Given the description of an element on the screen output the (x, y) to click on. 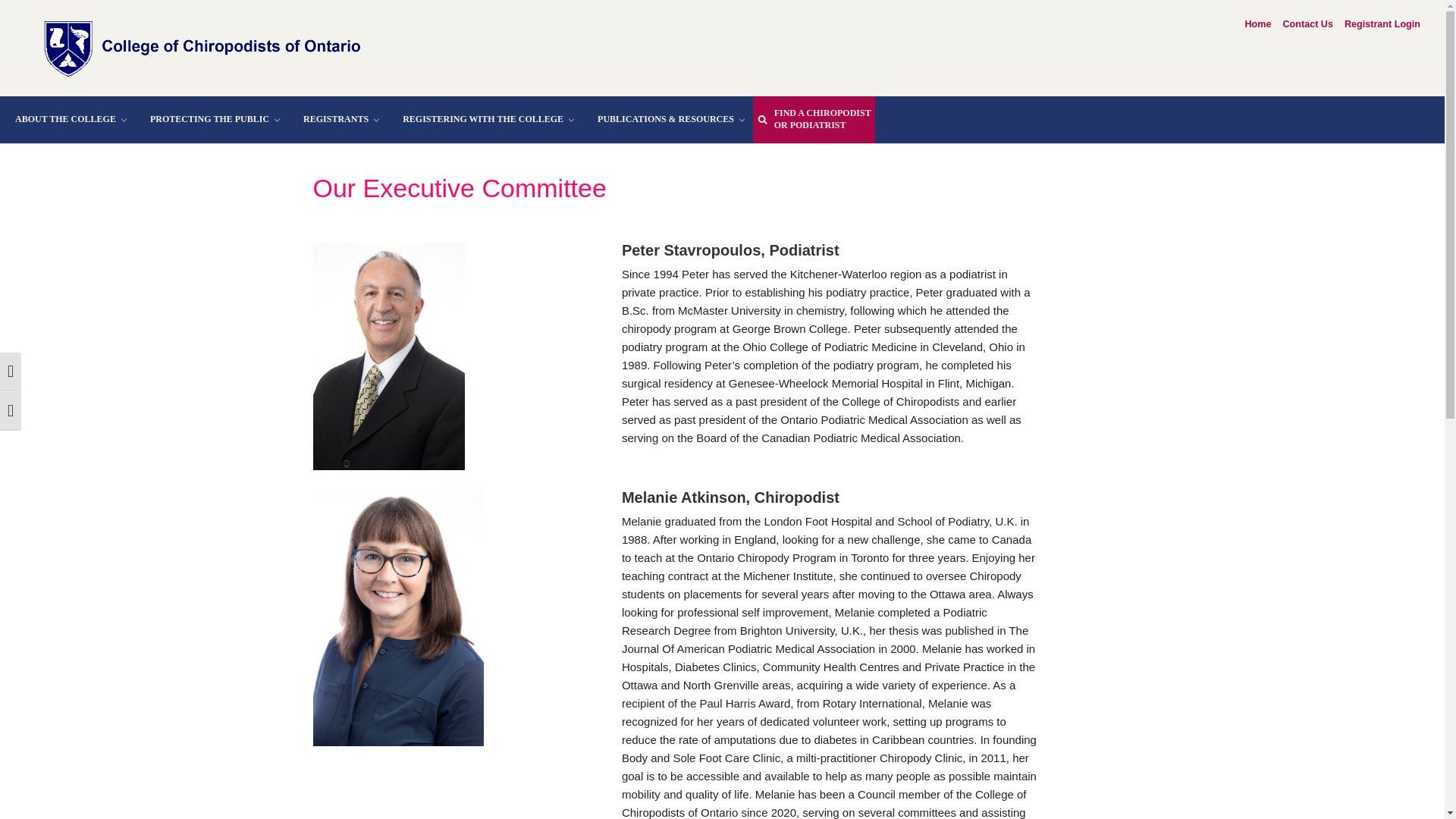
PROTECTING THE PUBLIC (211, 119)
Home (1257, 23)
Registrant Login (1382, 23)
Toggle Font size (10, 410)
ABOUT THE COLLEGE (67, 119)
Toggle High Contrast (10, 371)
Contact Us (1307, 23)
REGISTRANTS (337, 119)
